Given the description of an element on the screen output the (x, y) to click on. 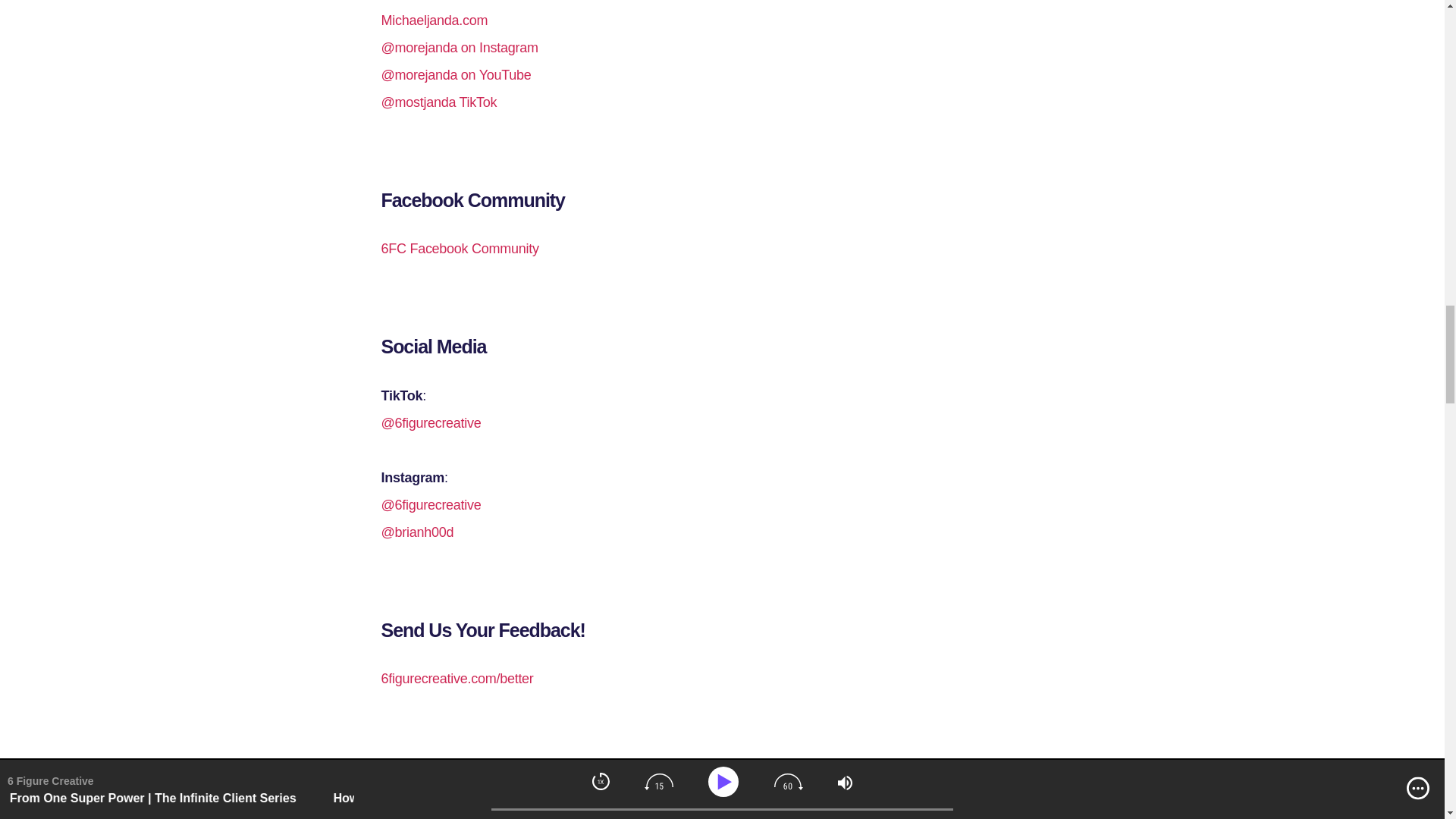
Michaeljanda.com (433, 20)
6FC Facebook Community (459, 248)
